Given the description of an element on the screen output the (x, y) to click on. 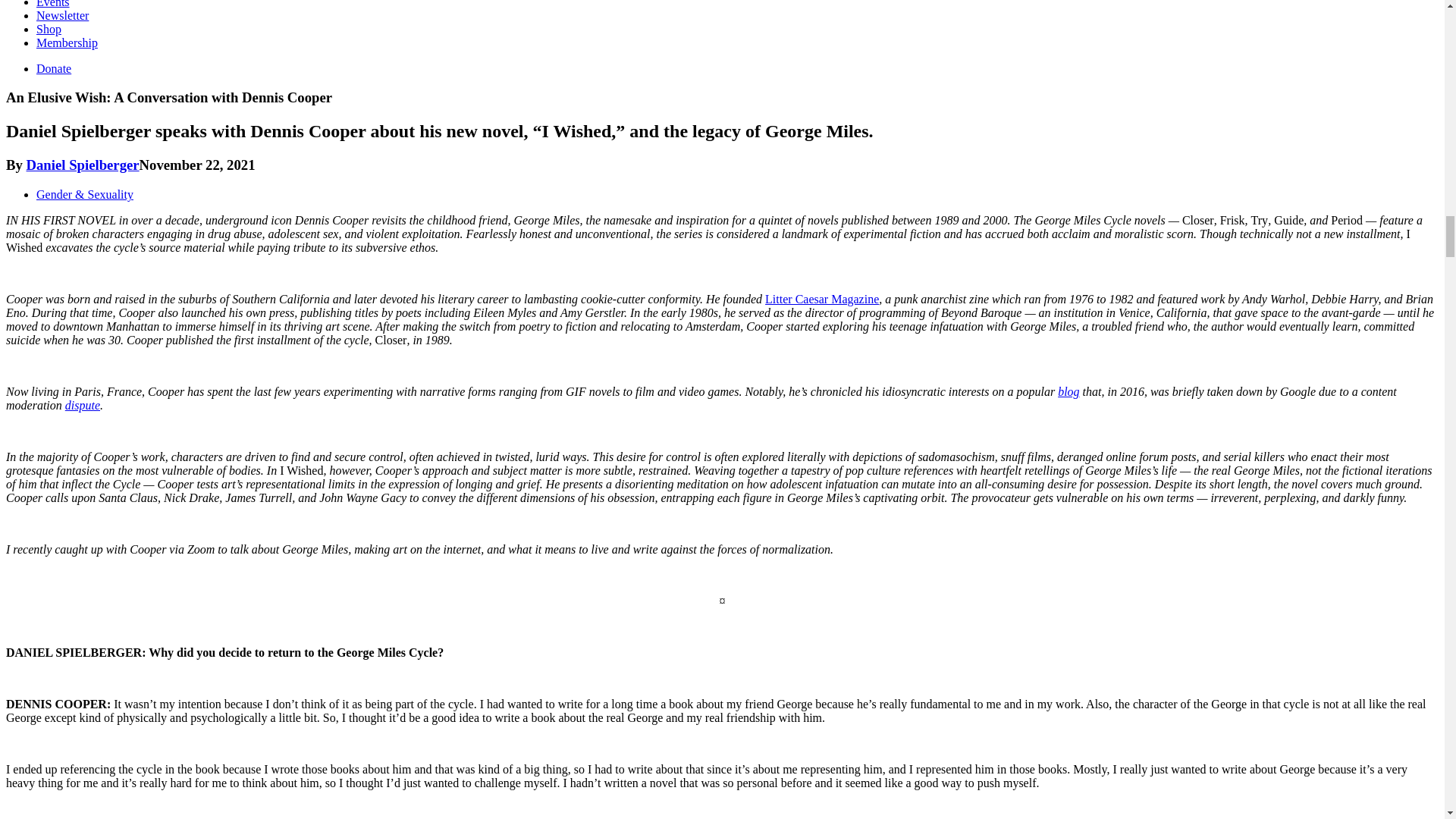
Shop (48, 29)
Daniel Spielberger (82, 164)
Newsletter (62, 15)
Events (52, 4)
Litter Caesar Magazine (822, 298)
dispute (82, 404)
Membership (66, 42)
blog (1068, 391)
